Given the description of an element on the screen output the (x, y) to click on. 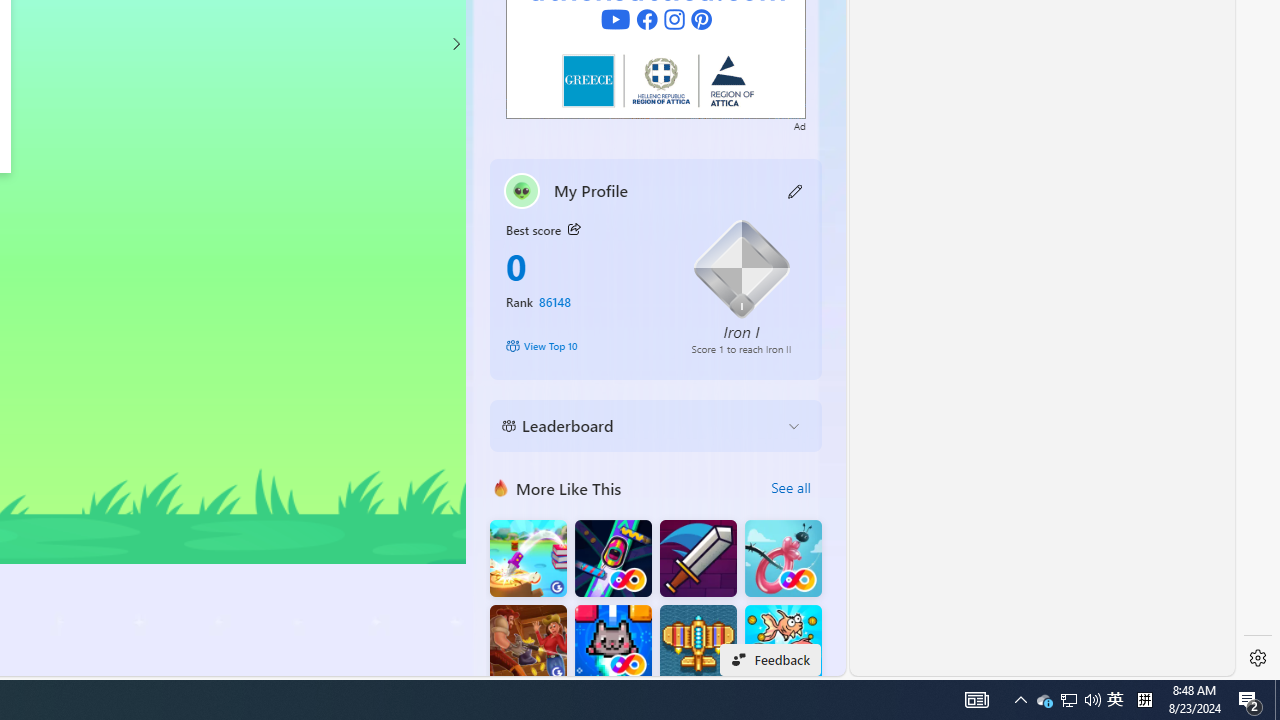
Balloon FRVR (783, 558)
See all (790, 487)
Class: button (574, 229)
More Like This (501, 487)
Dungeon Master Knight (698, 558)
